Given the description of an element on the screen output the (x, y) to click on. 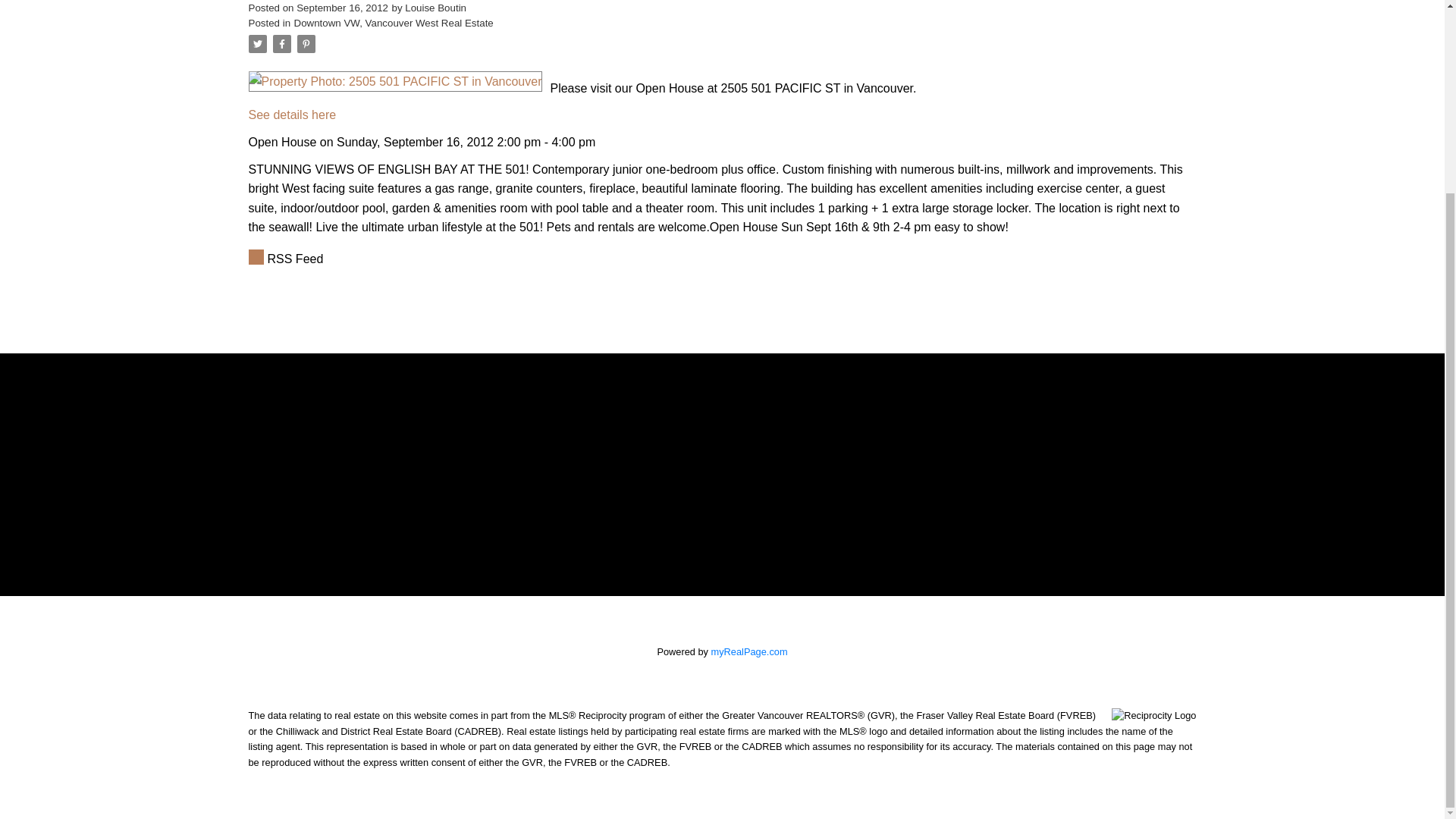
See details here (292, 114)
RSS (722, 259)
Downtown VW, Vancouver West Real Estate (393, 22)
